Given the description of an element on the screen output the (x, y) to click on. 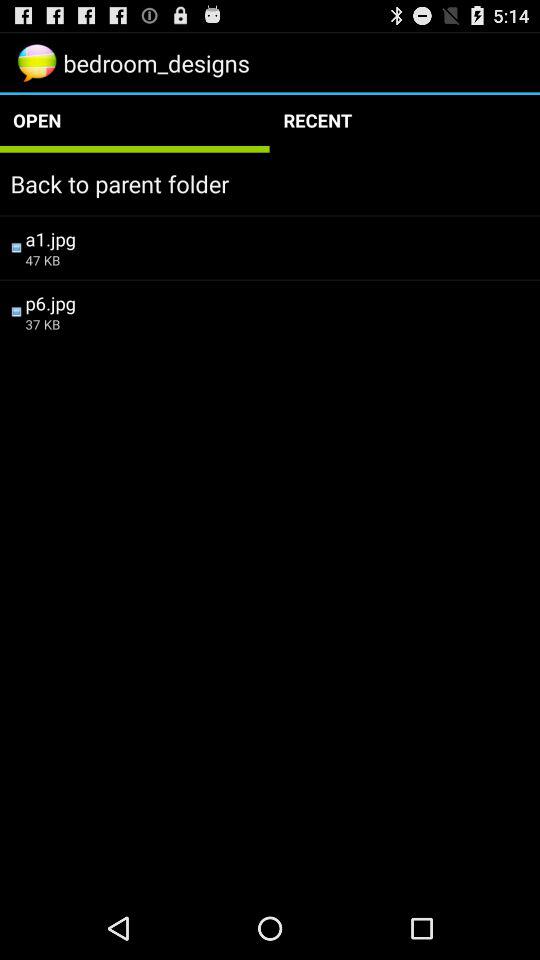
turn on the p6.jpg app (277, 302)
